Given the description of an element on the screen output the (x, y) to click on. 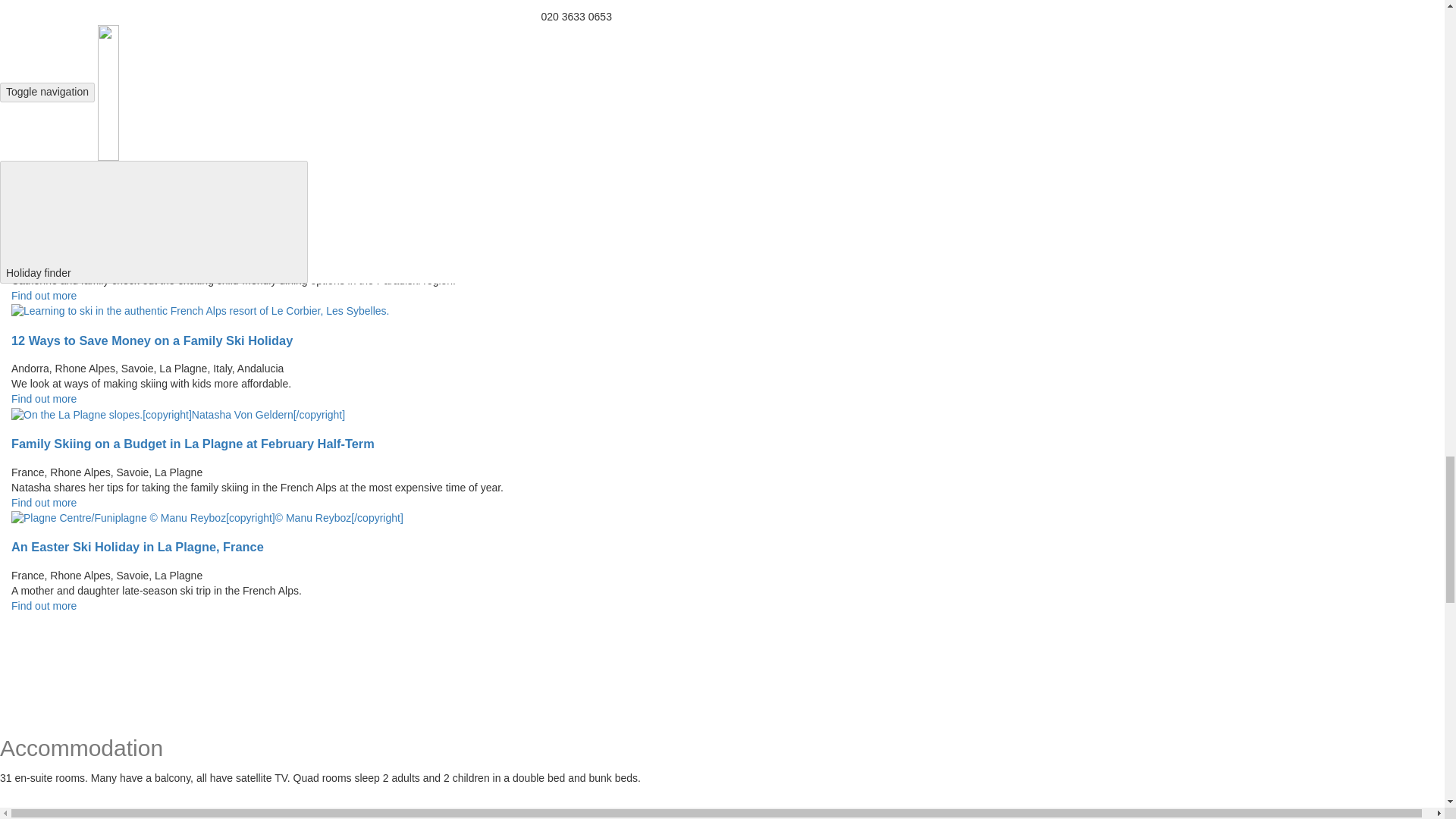
On the La Plagne slopes. (178, 415)
Olivia with a samoyed at the tipi camp (106, 208)
